Given the description of an element on the screen output the (x, y) to click on. 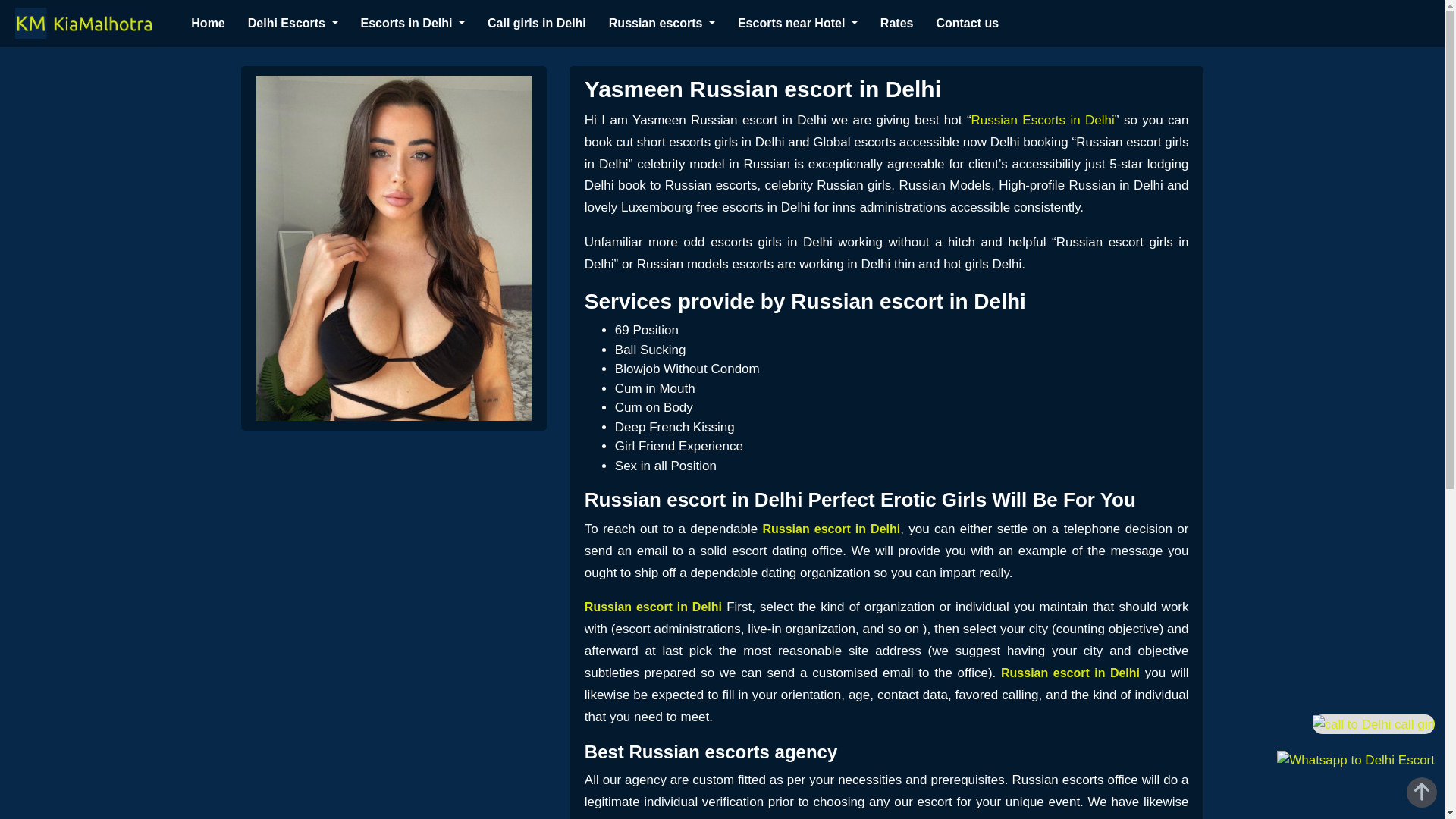
Rates (897, 22)
Escorts near Hotel (797, 22)
Delhi Escorts (292, 22)
Home (207, 22)
Russian escorts (661, 22)
Escorts in Delhi (412, 22)
Russian Escorts in Delhi (1043, 120)
Call girls in Delhi (536, 22)
Escorts in Delhi (412, 22)
Home (207, 22)
